Given the description of an element on the screen output the (x, y) to click on. 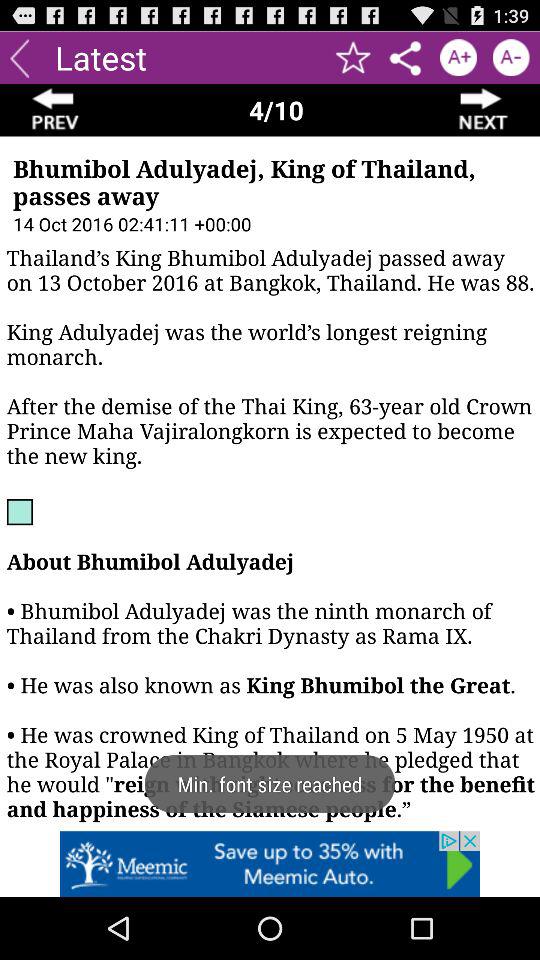
back button (19, 57)
